Given the description of an element on the screen output the (x, y) to click on. 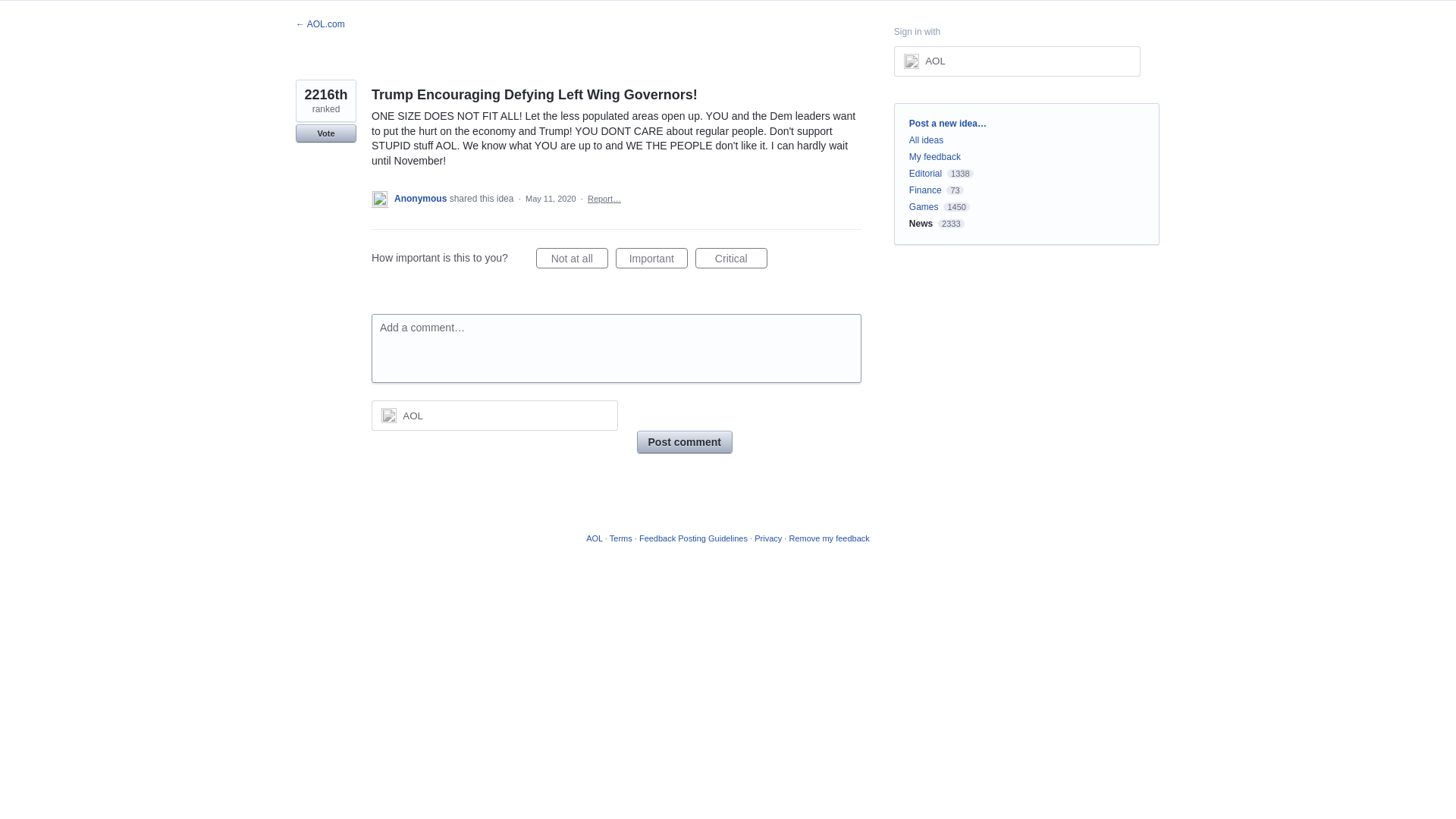
View all ideas in category Games (923, 206)
AOL (934, 60)
Vote (325, 133)
AOL sign in (494, 415)
Important (651, 258)
All ideas (925, 140)
AOL (1016, 60)
AOL (413, 415)
Critical (731, 258)
Skip to content (12, 12)
View all ideas in category Editorial (925, 173)
View all ideas in category News (920, 223)
Post comment (684, 441)
Not at all (571, 258)
AOL (494, 415)
